Given the description of an element on the screen output the (x, y) to click on. 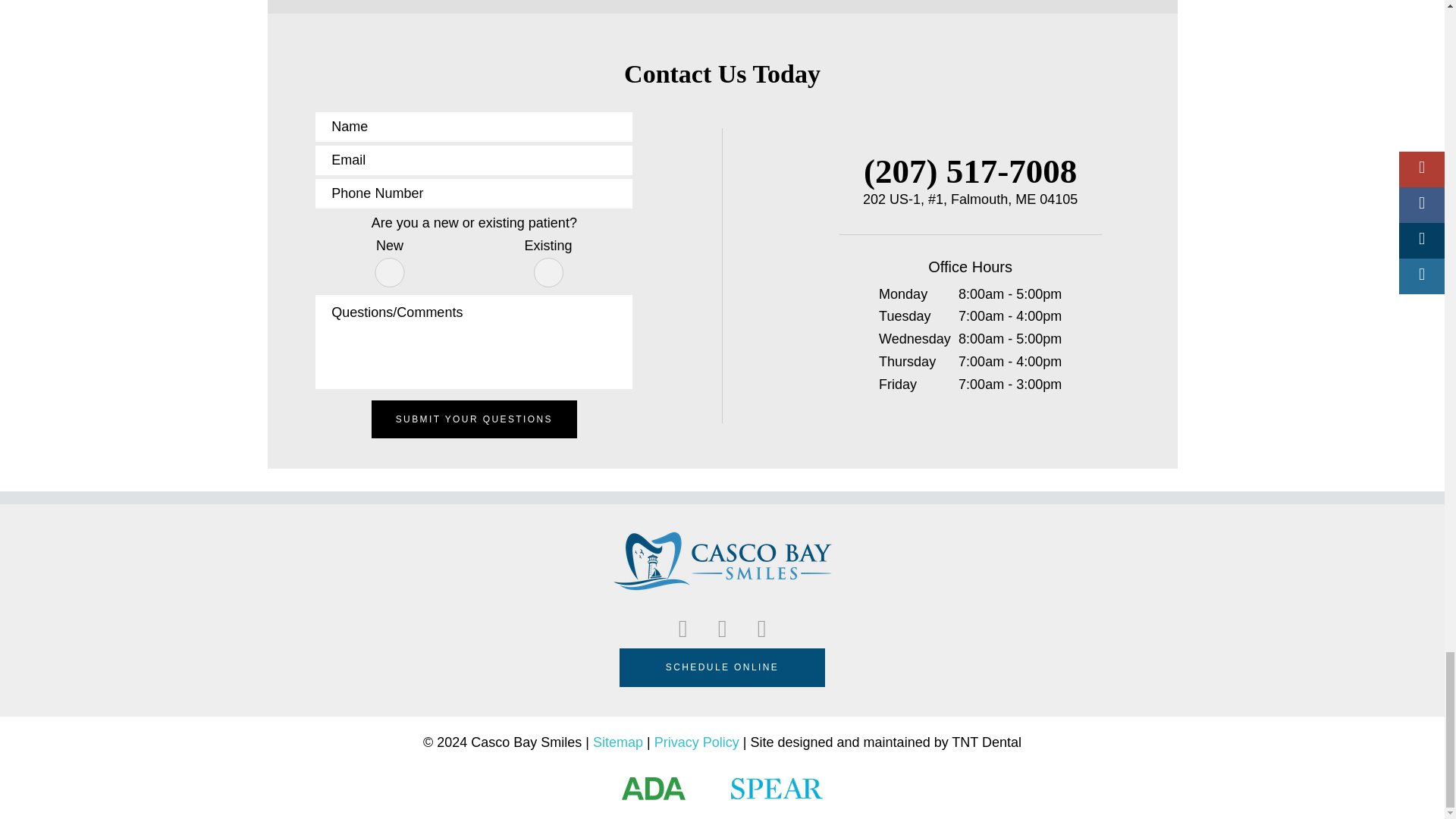
Submit Your Questions (473, 419)
Existing (548, 272)
New (389, 272)
